Given the description of an element on the screen output the (x, y) to click on. 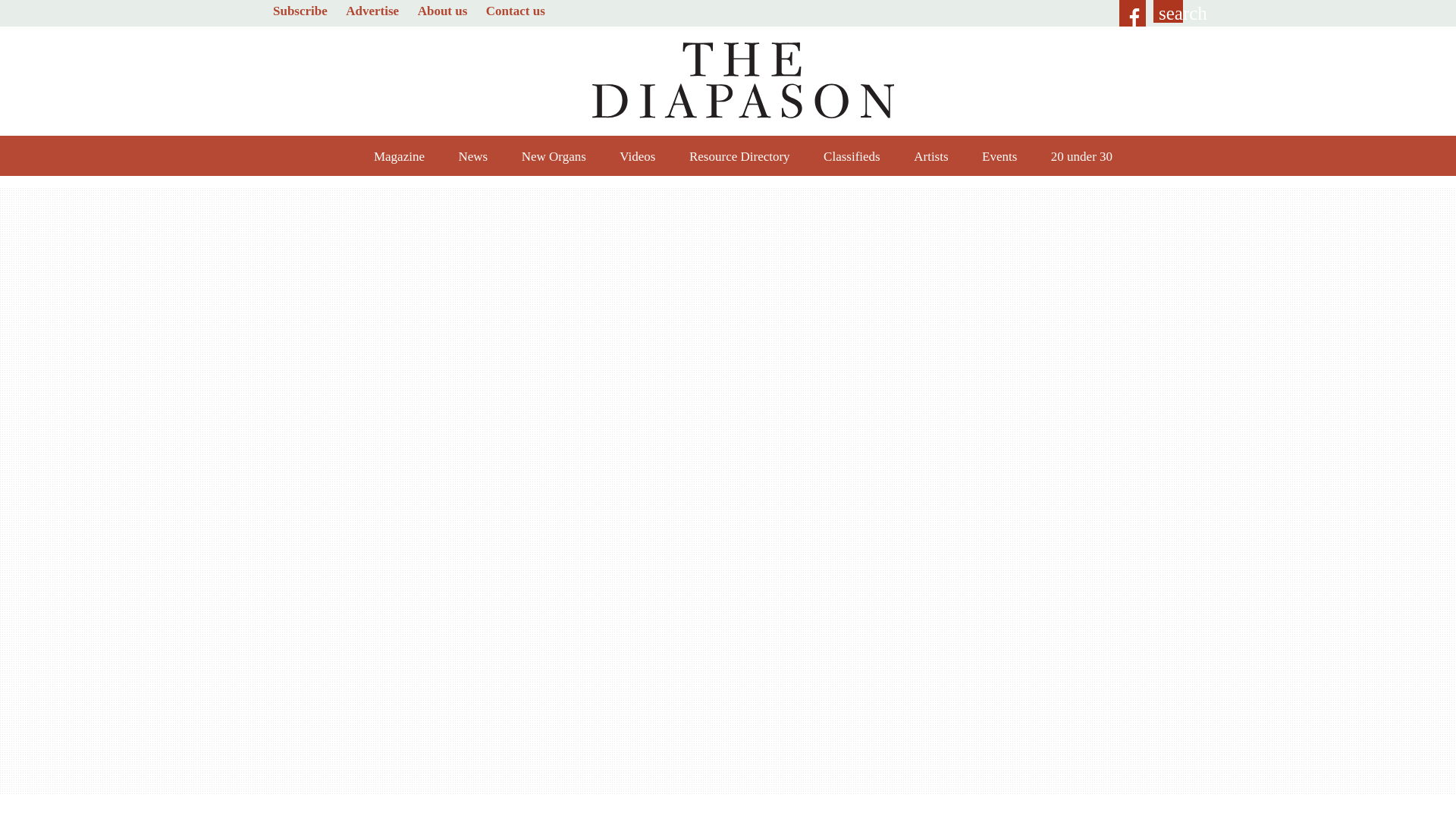
New Organs (553, 155)
20 under 30 (1081, 155)
About us (442, 11)
Contact us (515, 11)
Magazine (399, 155)
search (1167, 11)
Artists (930, 155)
Resource Directory (739, 155)
Home (742, 81)
Events (998, 155)
Advertise (372, 11)
Classifieds (852, 155)
Subscribe (300, 11)
Videos (637, 155)
